Given the description of an element on the screen output the (x, y) to click on. 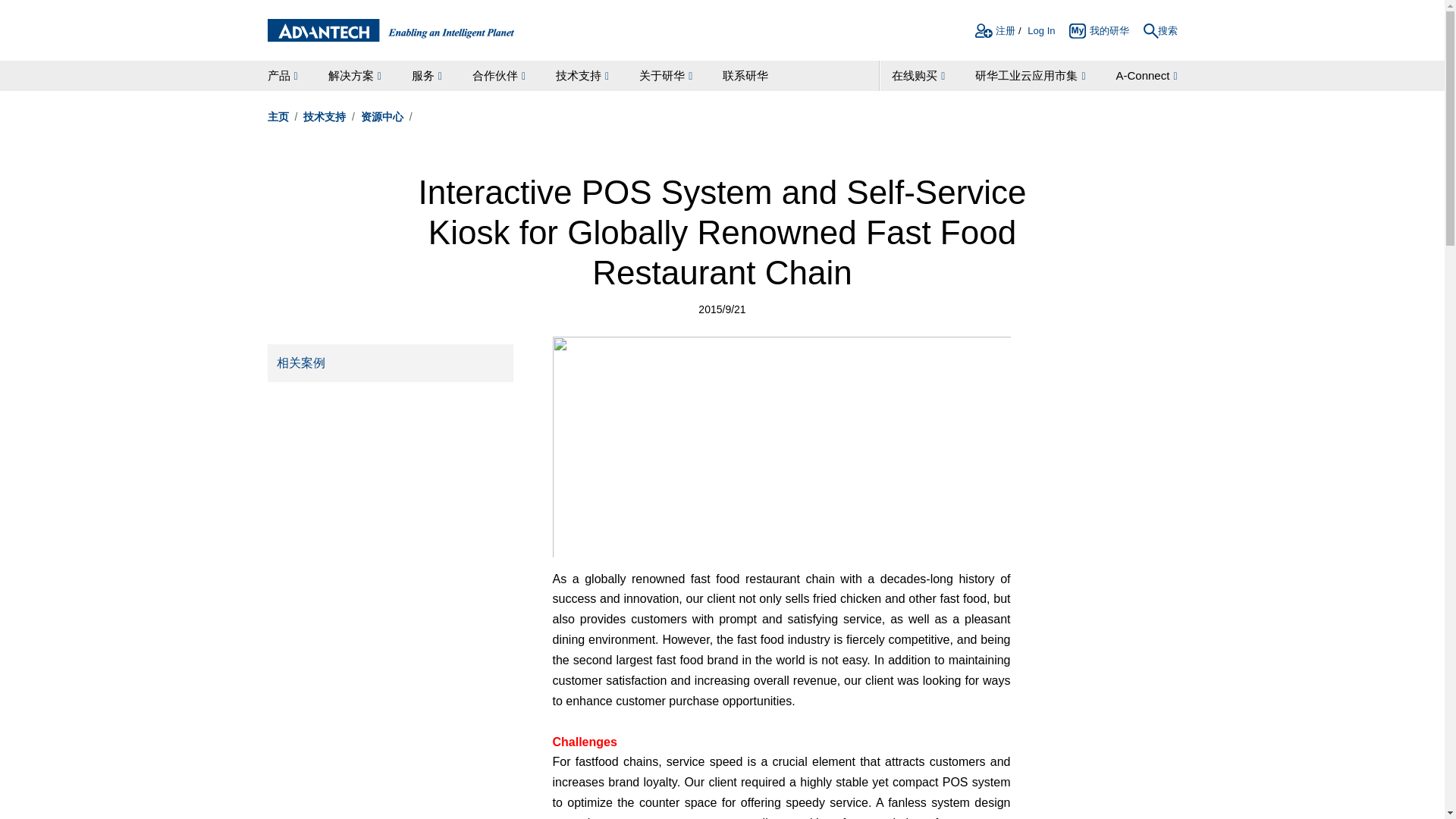
Log In (1040, 32)
Advantech Homepage (389, 29)
